Given the description of an element on the screen output the (x, y) to click on. 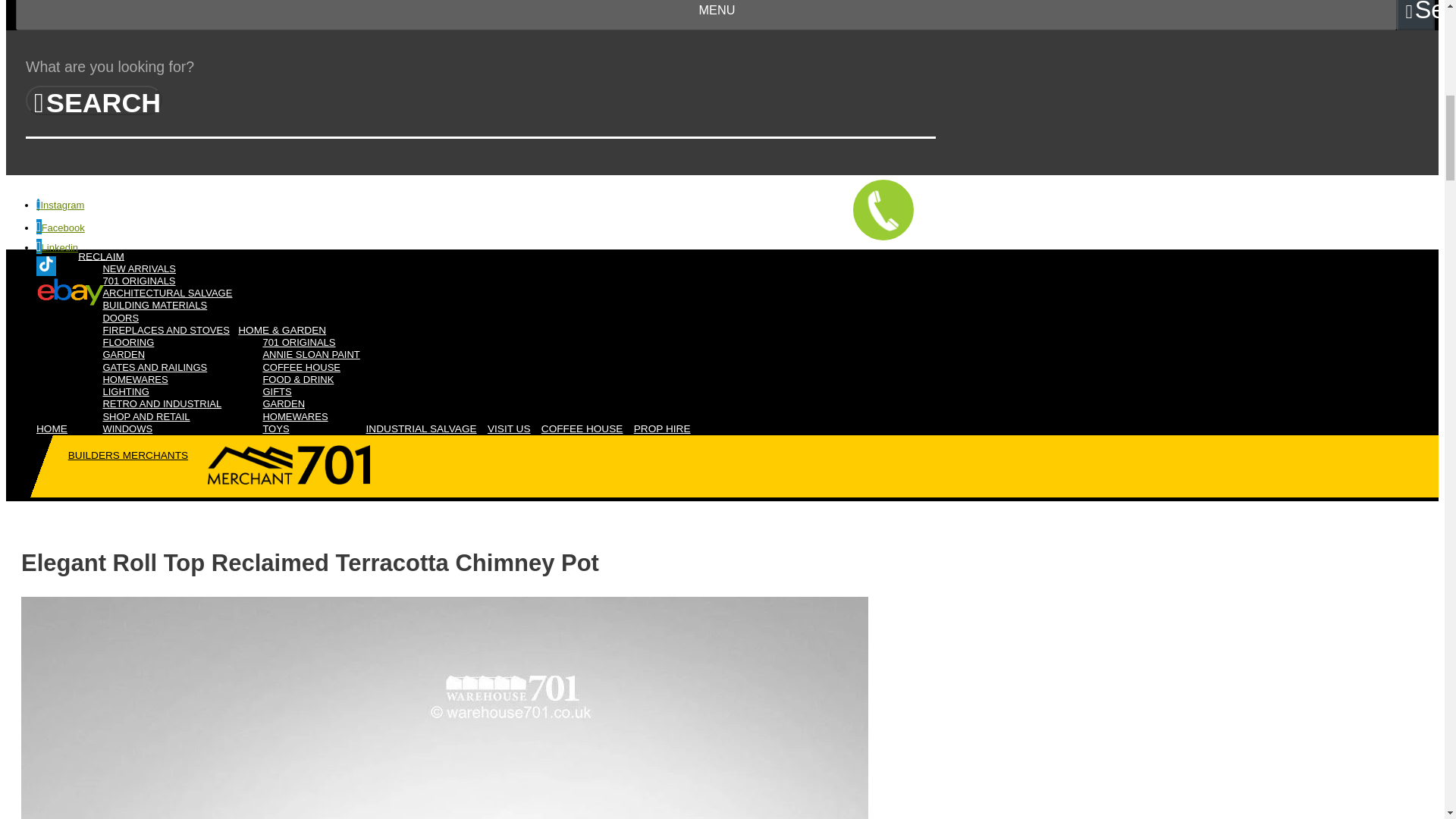
MENU (706, 15)
SEARCH (93, 100)
Search (1415, 15)
